Given the description of an element on the screen output the (x, y) to click on. 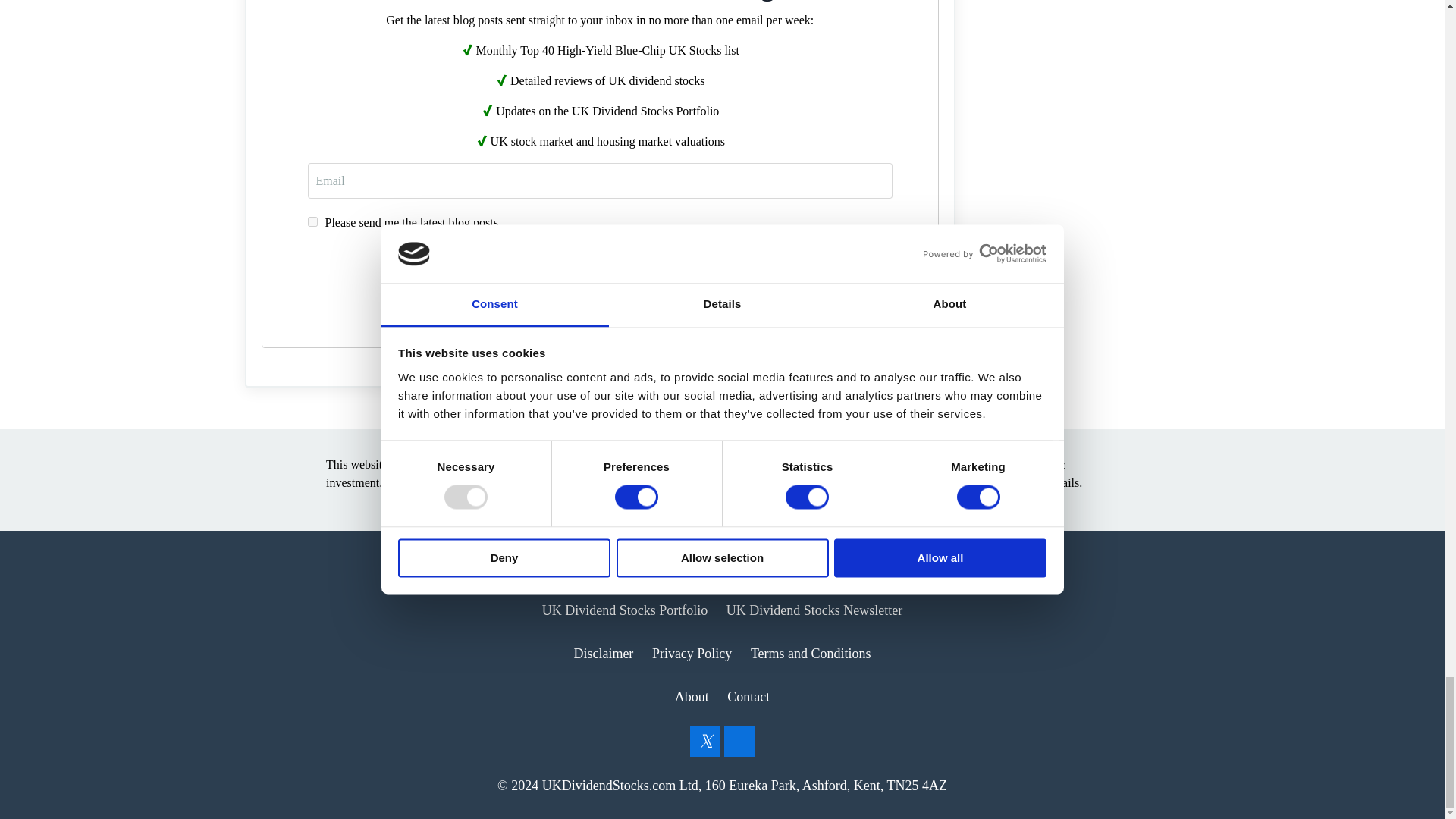
1 (312, 221)
SUBSCRIBE TO THE BLOG (599, 272)
